Given the description of an element on the screen output the (x, y) to click on. 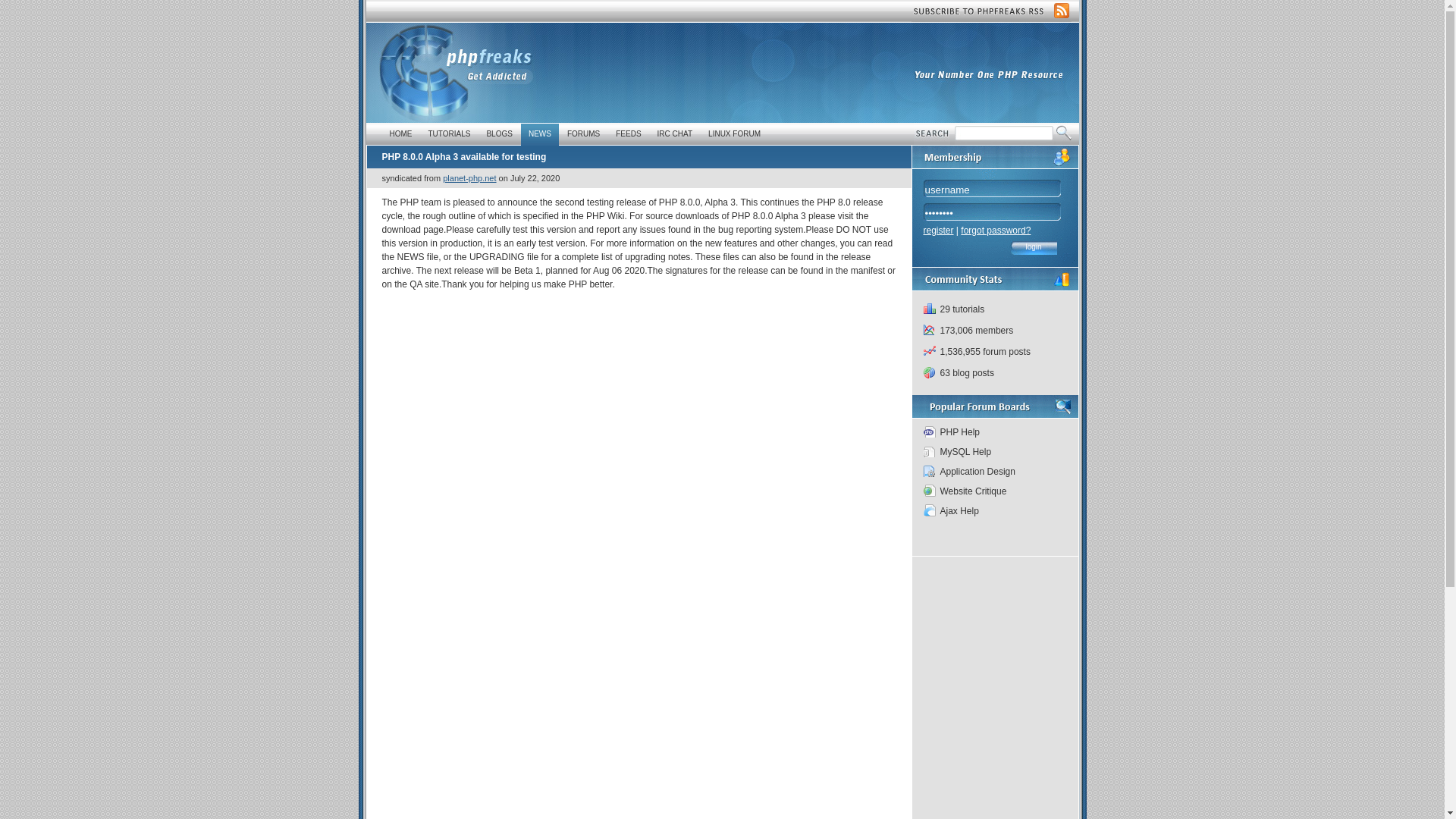
Subscribe to PHP Freaks RSS (991, 11)
password (1010, 213)
register (938, 230)
FORUMS (583, 133)
Website Critique (994, 491)
planet-php.net (469, 177)
Ajax Help (994, 510)
MySQL Help (994, 451)
forgot password? (995, 230)
username (1010, 189)
login (1033, 249)
Advertisement (900, 44)
Application Design (994, 471)
TUTORIALS (448, 133)
PHP Help (994, 432)
